Given the description of an element on the screen output the (x, y) to click on. 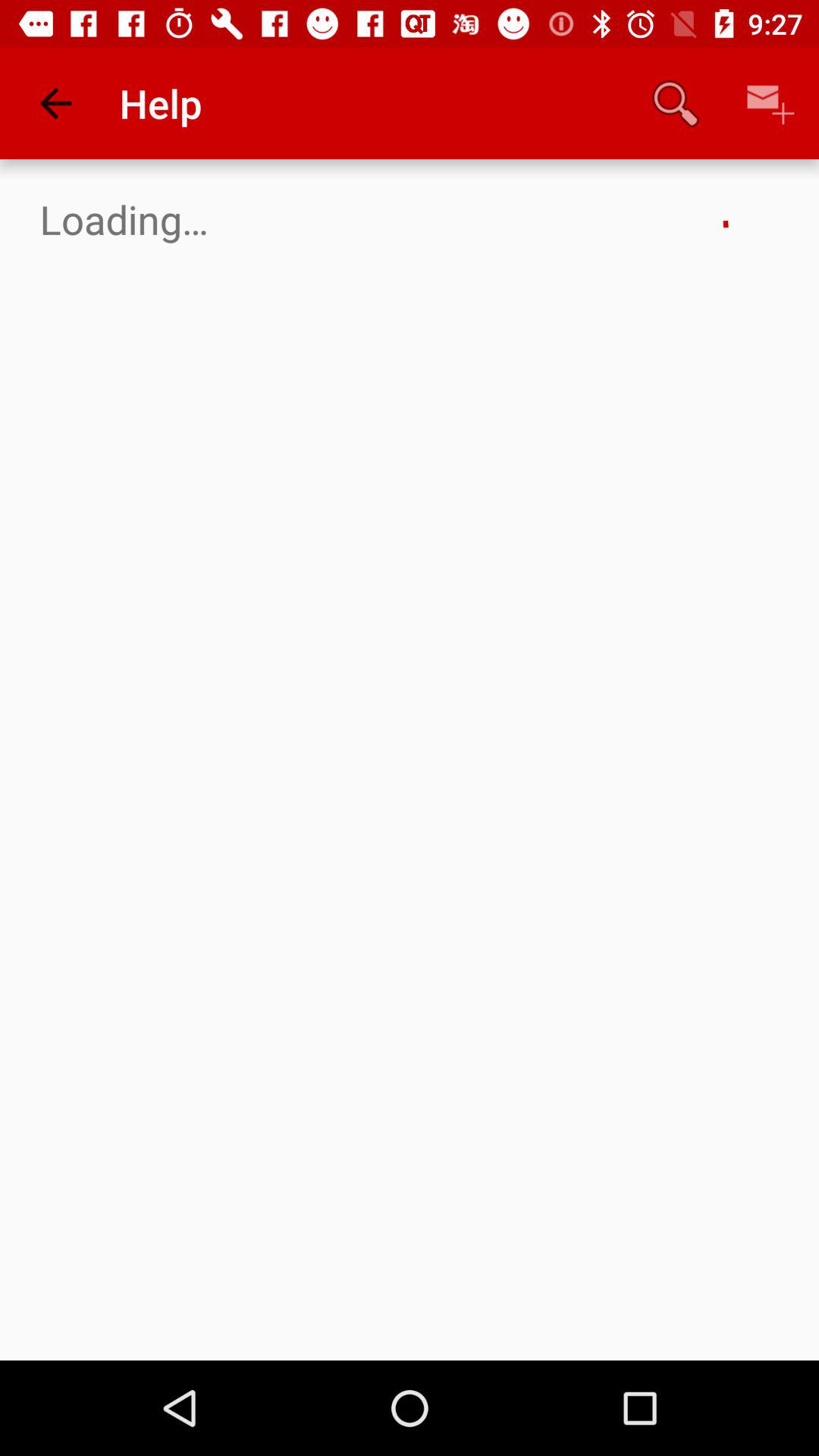
select icon next to the help item (55, 103)
